Given the description of an element on the screen output the (x, y) to click on. 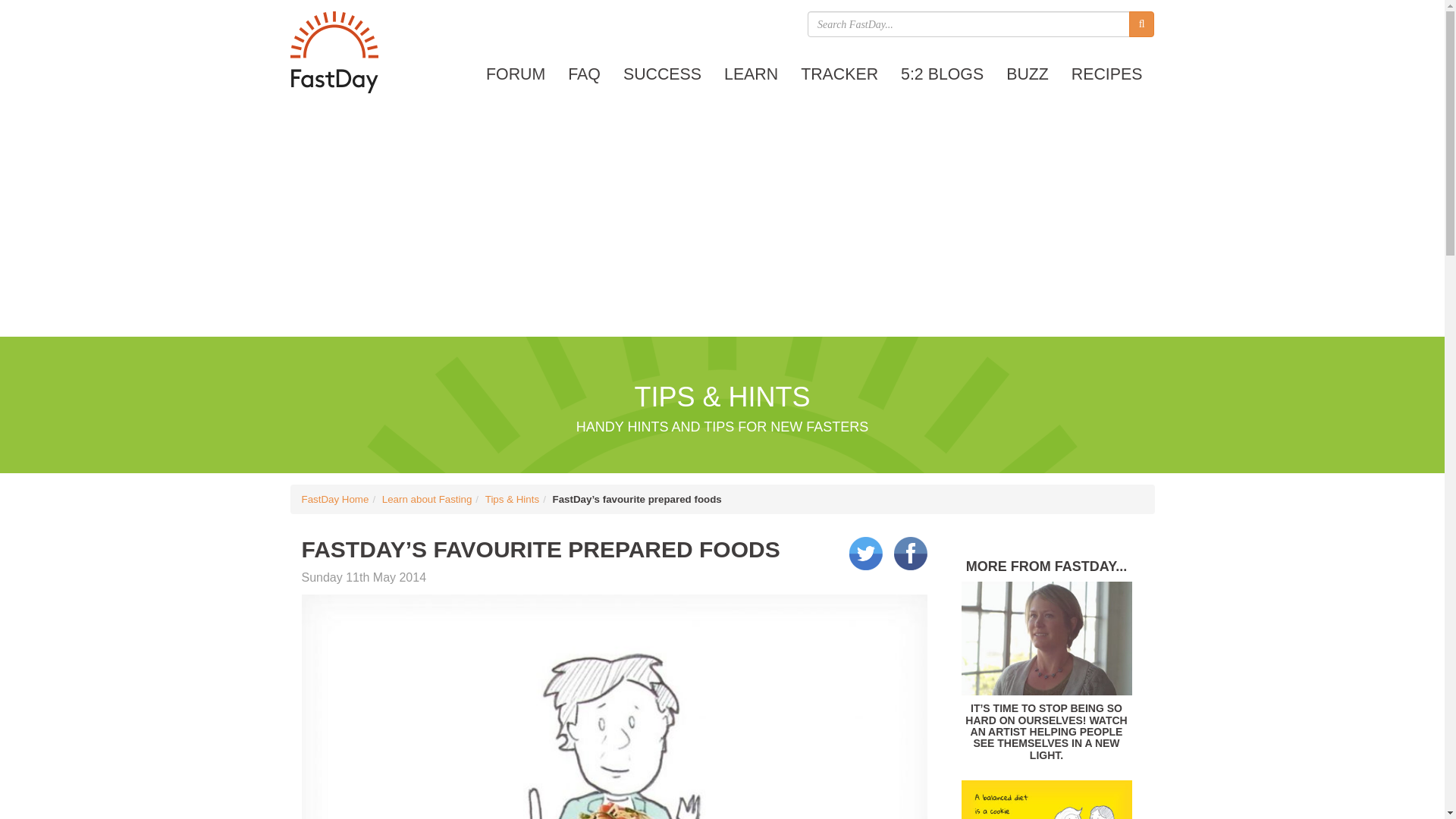
RECIPES (1106, 74)
FastDay Home (335, 499)
Weight loss progress tracker (839, 74)
The FastDay Forum (515, 74)
FastDay Member Blogs (941, 74)
Intermittent Fasting FAQ (583, 74)
Learn about Fasting (426, 499)
LEARN (751, 74)
Learn about the 5:2 Diet (751, 74)
TRACKER (839, 74)
